Given the description of an element on the screen output the (x, y) to click on. 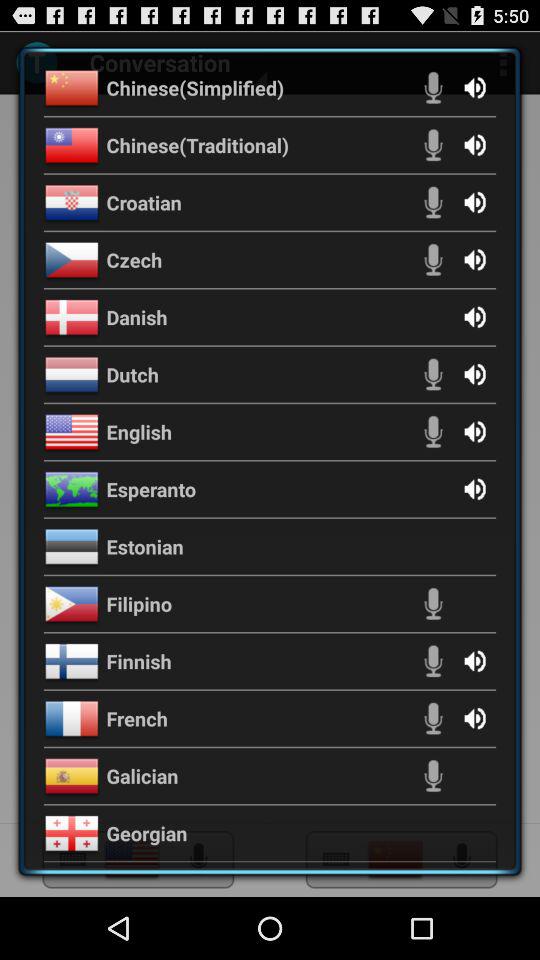
tap item above the galician (137, 718)
